Given the description of an element on the screen output the (x, y) to click on. 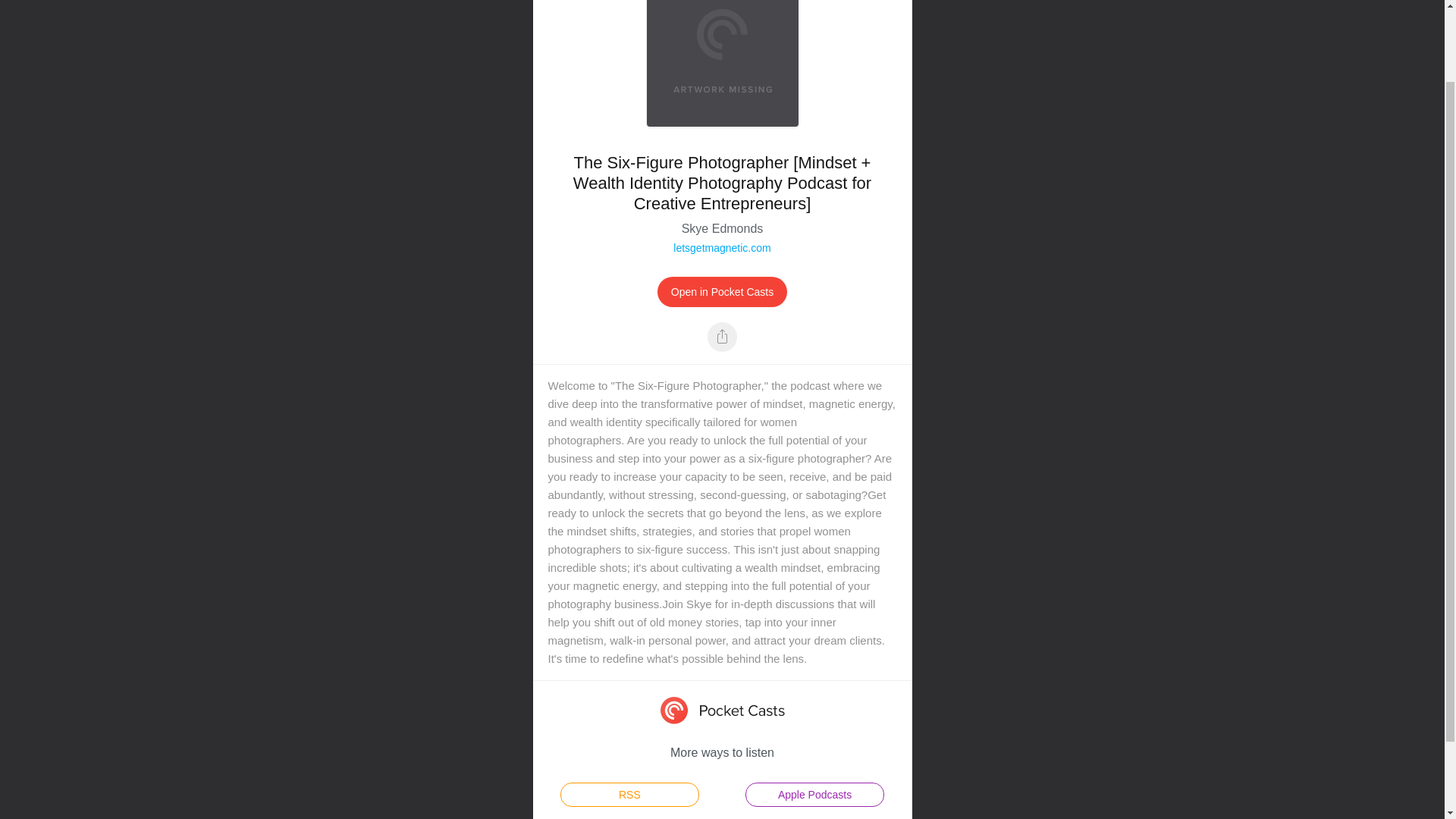
letsgetmagnetic.com (721, 247)
RSS (629, 794)
Apple Podcasts (814, 794)
Open in Pocket Casts (722, 291)
